Given the description of an element on the screen output the (x, y) to click on. 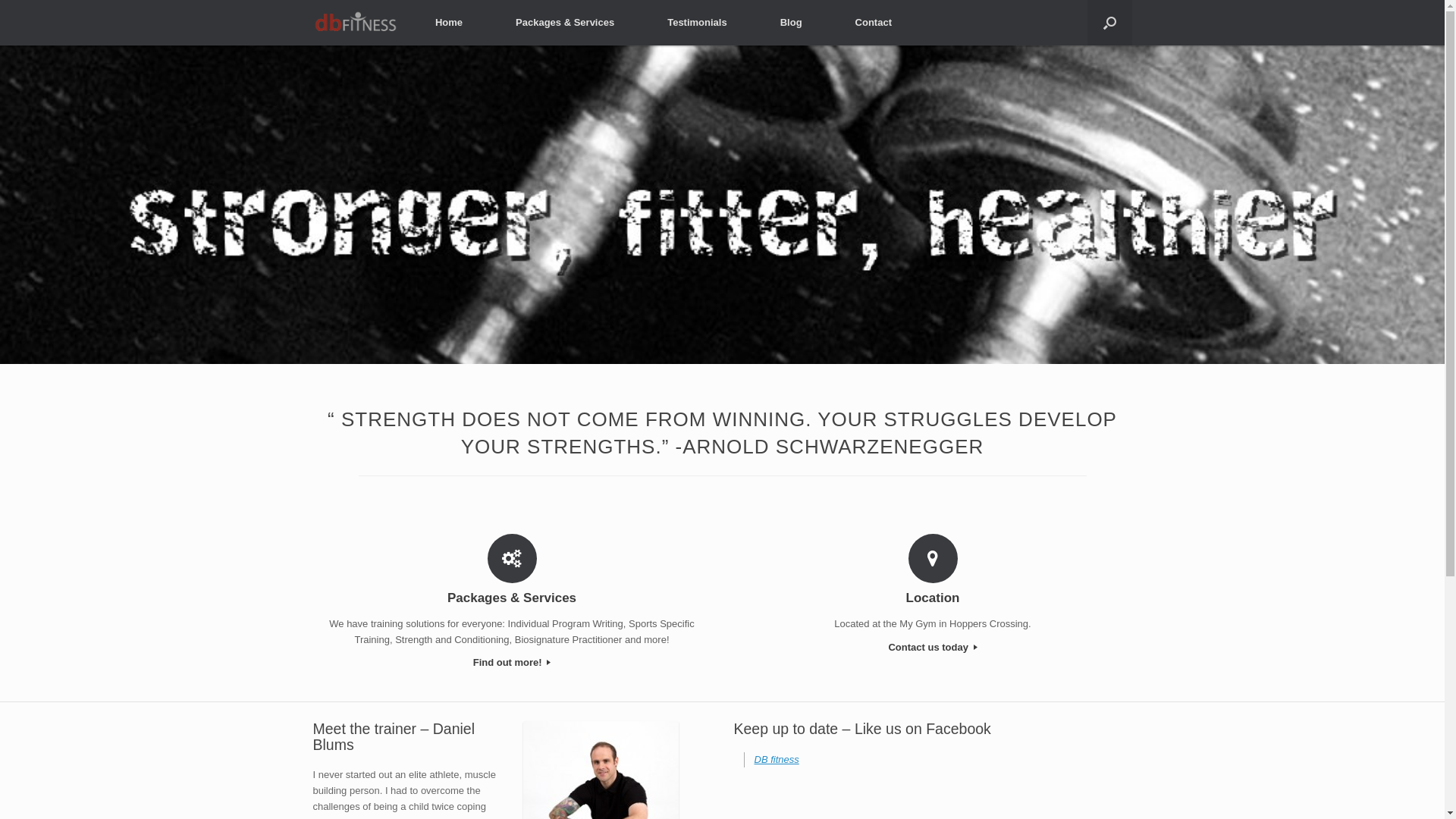
Find out more! Element type: text (511, 663)
Blog Element type: text (790, 22)
DB Fitness Element type: hover (354, 22)
Packages & Services Element type: text (564, 22)
Location Element type: text (932, 597)
Contact us today Element type: text (932, 647)
DB fitness Element type: text (775, 759)
Contact Element type: text (873, 22)
Home Element type: text (448, 22)
Testimonials Element type: text (696, 22)
